Given the description of an element on the screen output the (x, y) to click on. 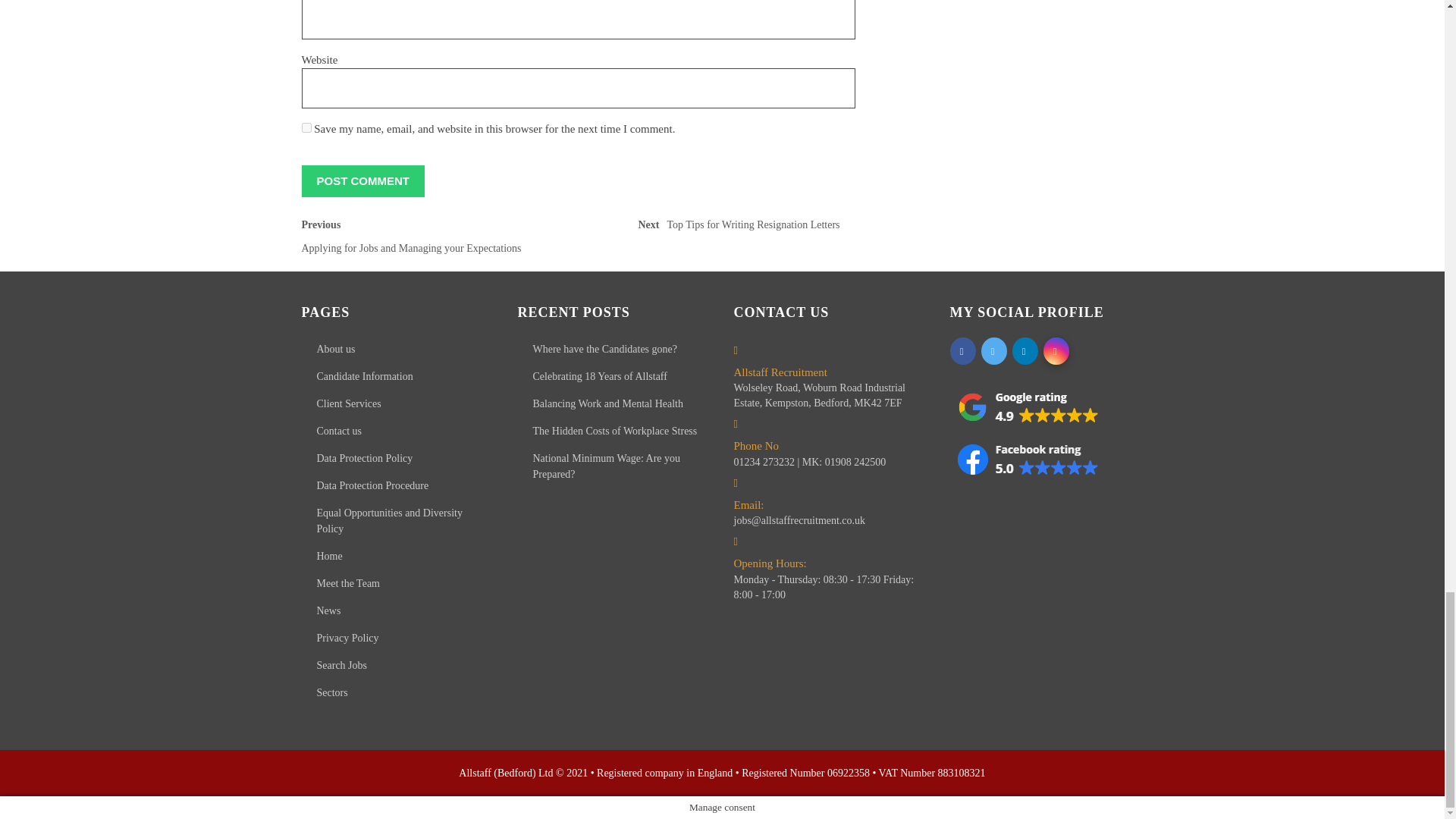
yes (742, 228)
Post Comment (306, 127)
Post Comment (435, 240)
